Given the description of an element on the screen output the (x, y) to click on. 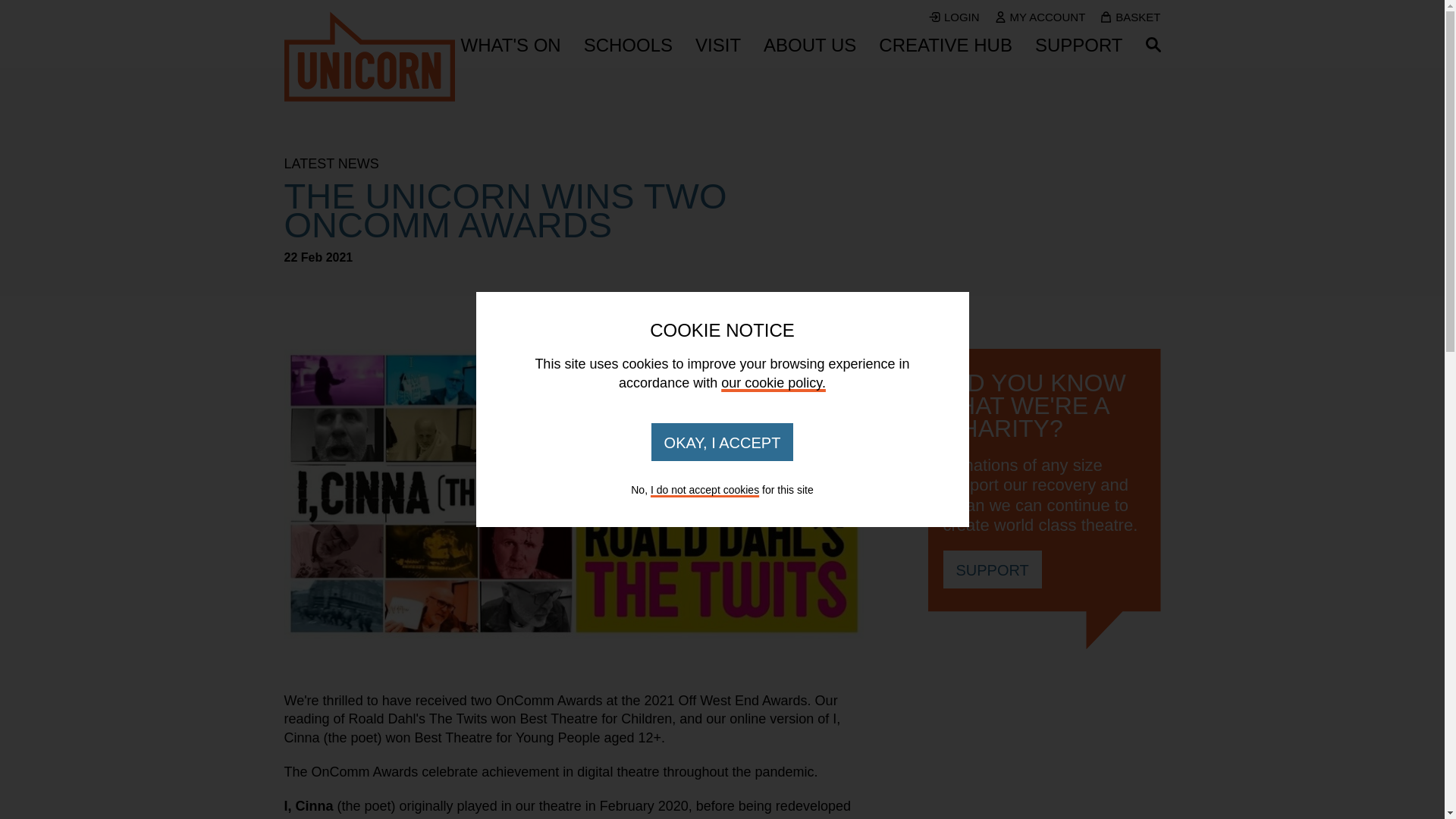
VISIT (718, 45)
BASKET (1130, 16)
THE UNICORN THEATRE (368, 56)
Search (1152, 44)
MY ACCOUNT (1040, 16)
CREATIVE HUB (945, 45)
our cookie policy. (772, 382)
SUPPORT (992, 569)
LATEST NEWS (576, 164)
I do not accept cookies (704, 490)
SCHOOLS (627, 45)
SUPPORT (1078, 45)
ABOUT US (809, 45)
OKAY, I ACCEPT (721, 442)
LOGIN (953, 16)
